Given the description of an element on the screen output the (x, y) to click on. 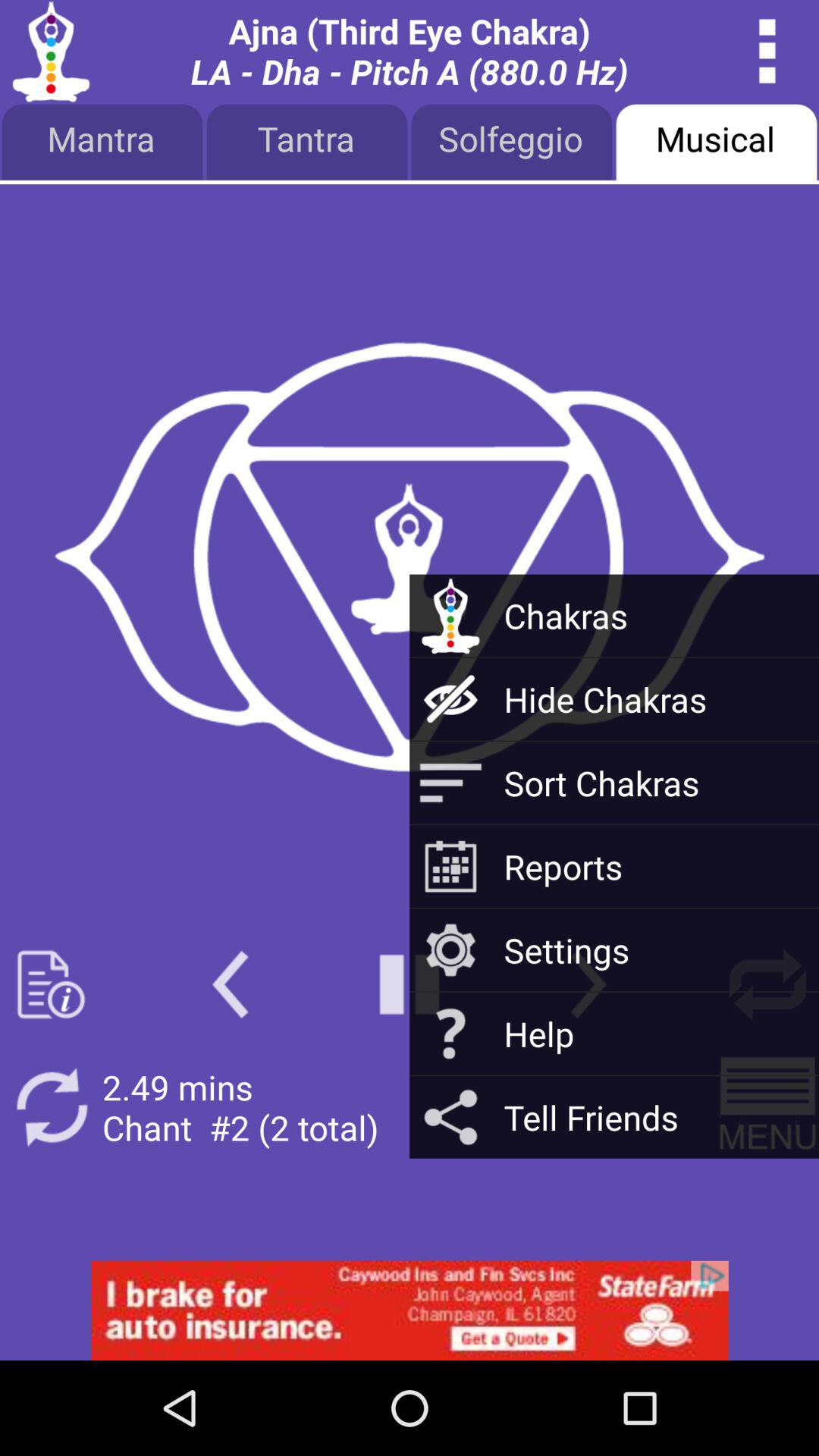
go to previous musical (230, 984)
